Given the description of an element on the screen output the (x, y) to click on. 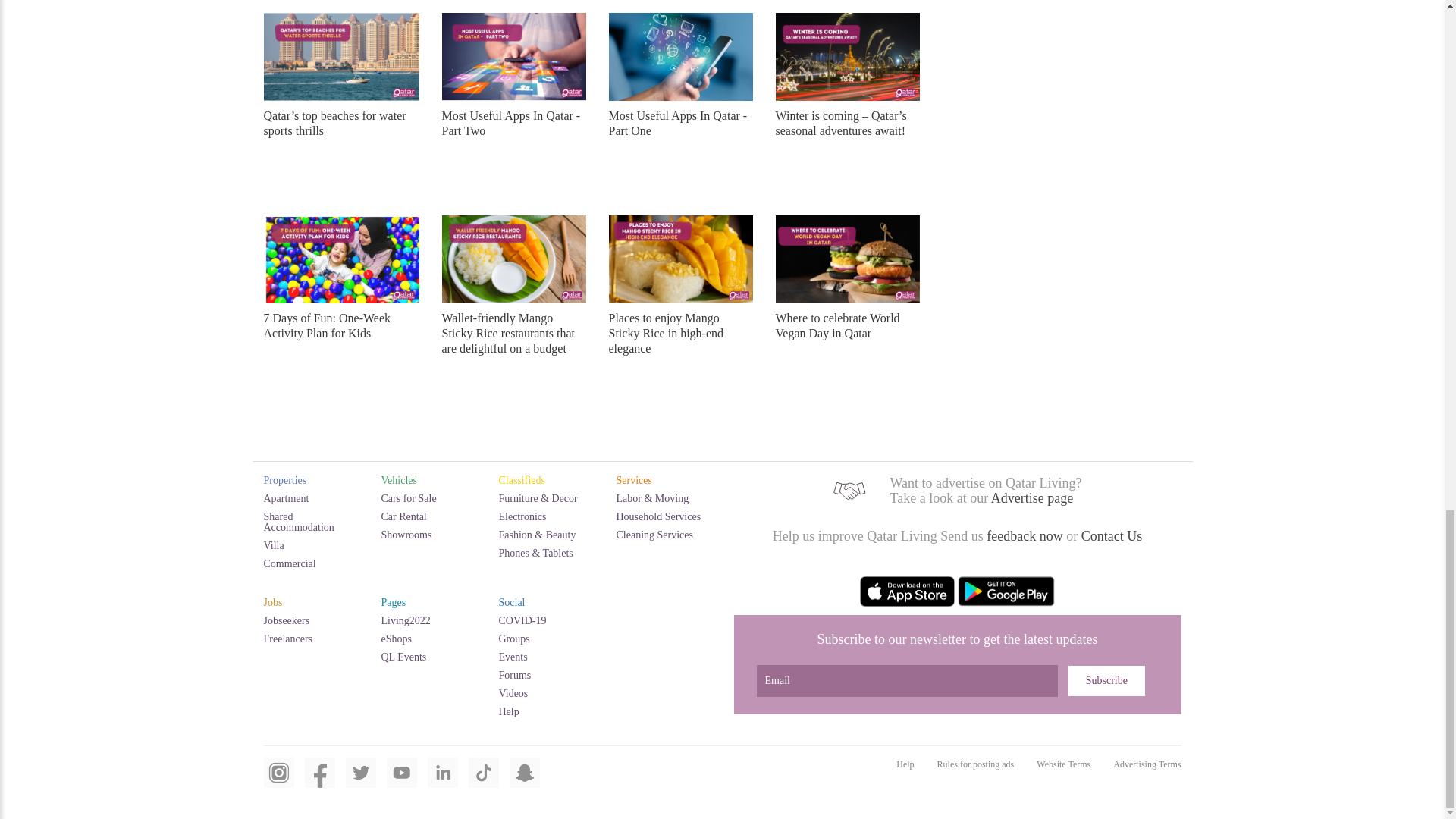
INSTAGRAM (278, 780)
YOUTUBE (401, 780)
FACEBOOK (319, 780)
TIKTOK (483, 780)
Subscribe (1106, 680)
SNAPCHAT (524, 780)
TWITTER (360, 780)
LINKEDIN (443, 780)
